Given the description of an element on the screen output the (x, y) to click on. 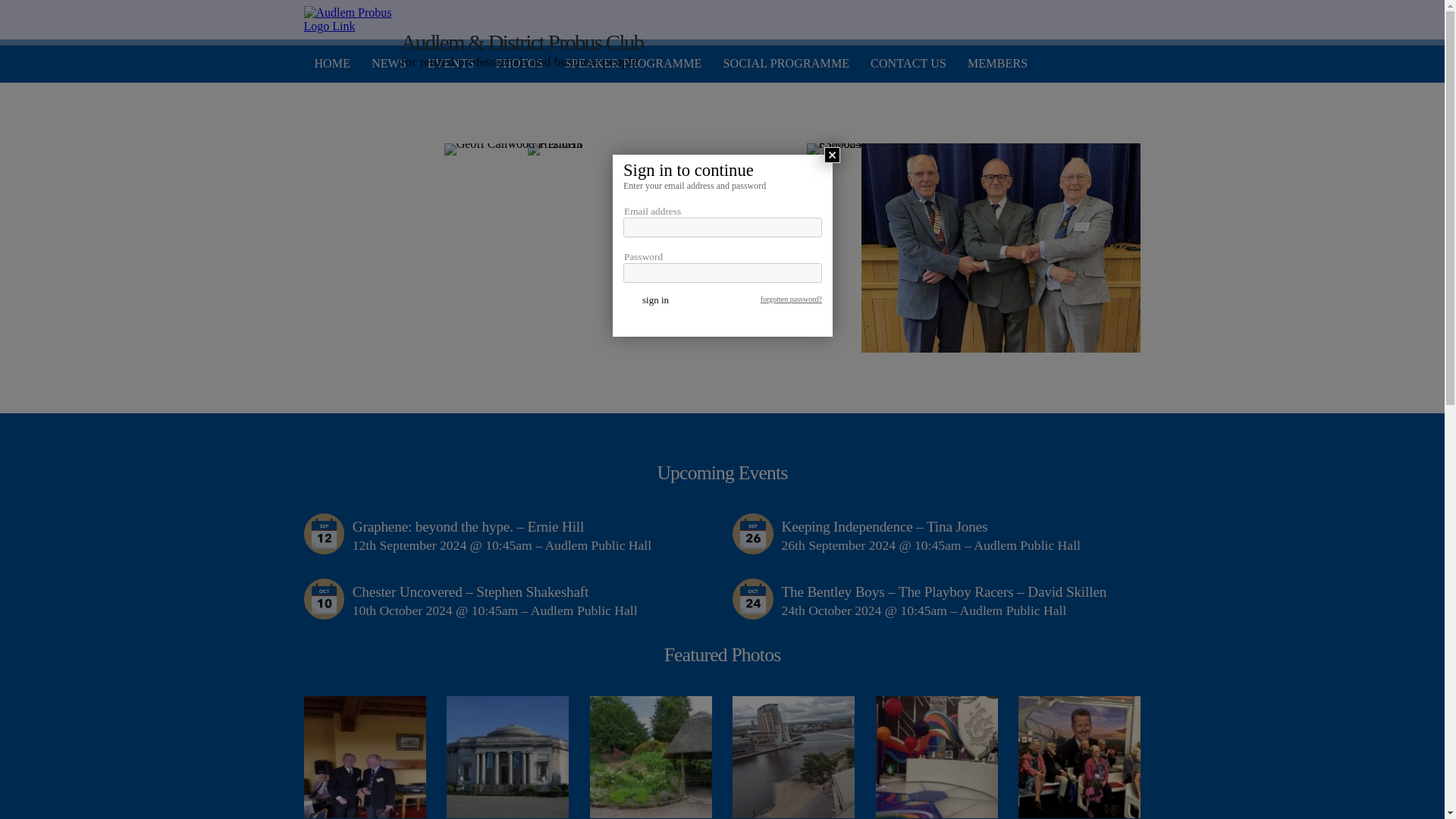
EVENTS (444, 63)
Audlem Probus Home (348, 19)
close this popup (832, 154)
CONTACT US (903, 63)
MEMBERS (992, 63)
NEWS (383, 63)
SOCIAL PROGRAMME (780, 63)
HOME (326, 63)
PHOTOS (513, 63)
SPEAKER PROGRAMME (627, 63)
